Given the description of an element on the screen output the (x, y) to click on. 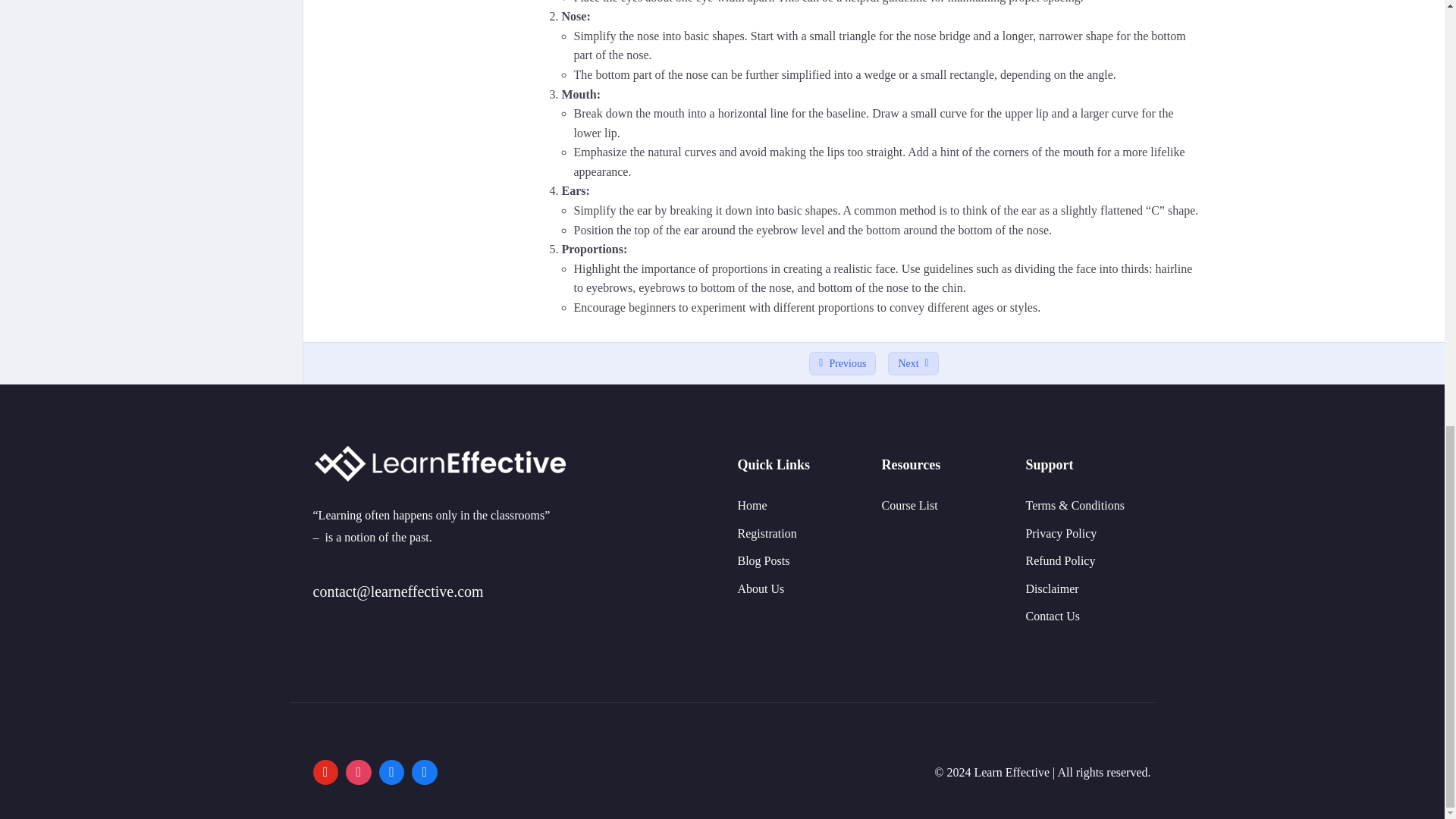
Home (751, 504)
Next (912, 363)
Youtube (325, 772)
Instagram (358, 772)
Facebook (392, 772)
Registration (766, 533)
Previous (842, 363)
Twitter (424, 772)
